Given the description of an element on the screen output the (x, y) to click on. 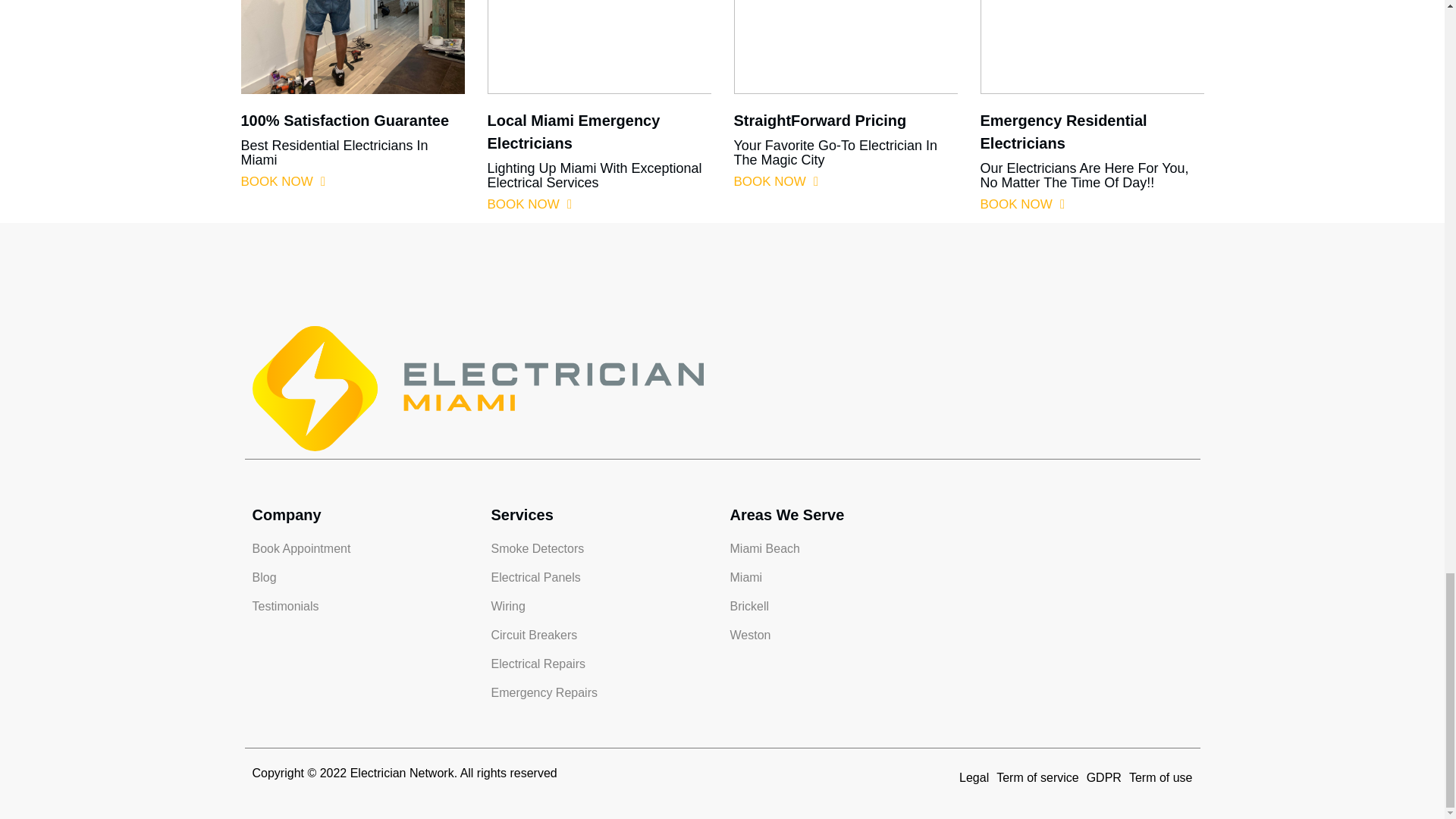
Miami Beach (841, 548)
Circuit Breakers (603, 635)
Book Appointment (363, 548)
Weston (841, 635)
Electrical Panels (603, 577)
BOOK NOW (775, 181)
Emergency Repairs (603, 692)
Blog (363, 577)
Smoke Detectors (603, 548)
Testimonials (363, 606)
Brickell (841, 606)
BOOK NOW (283, 181)
Miami (841, 577)
Electrical Repairs (603, 663)
Term of service (1036, 777)
